Given the description of an element on the screen output the (x, y) to click on. 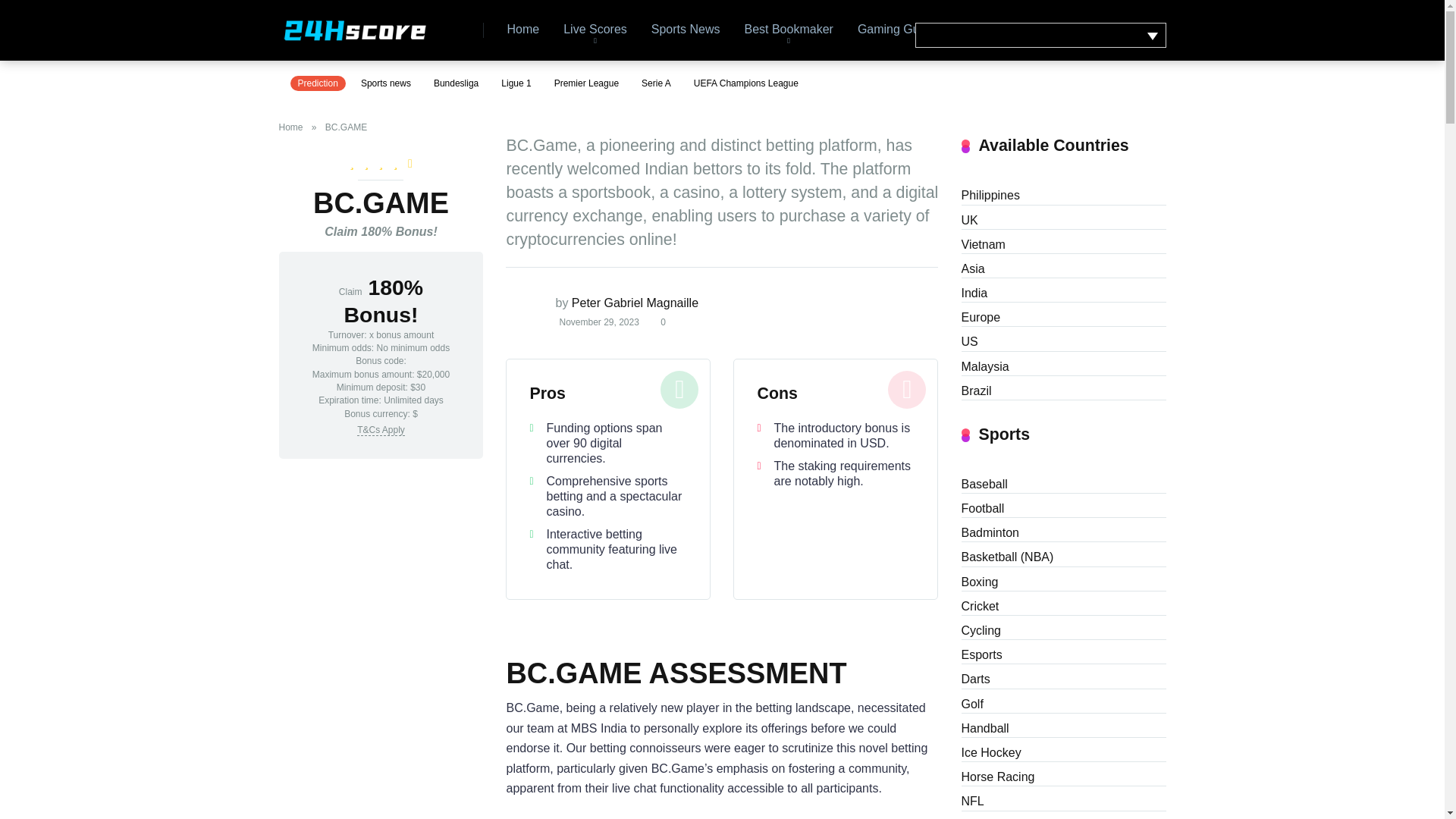
Prediction (317, 83)
Peter Gabriel Magnaille (635, 302)
Premier League (586, 83)
Sports News (685, 30)
Gaming Guide (896, 30)
Home (293, 127)
Serie A (655, 83)
Ligue 1 (515, 83)
UEFA Champions League (745, 83)
Predictions (989, 30)
